Given the description of an element on the screen output the (x, y) to click on. 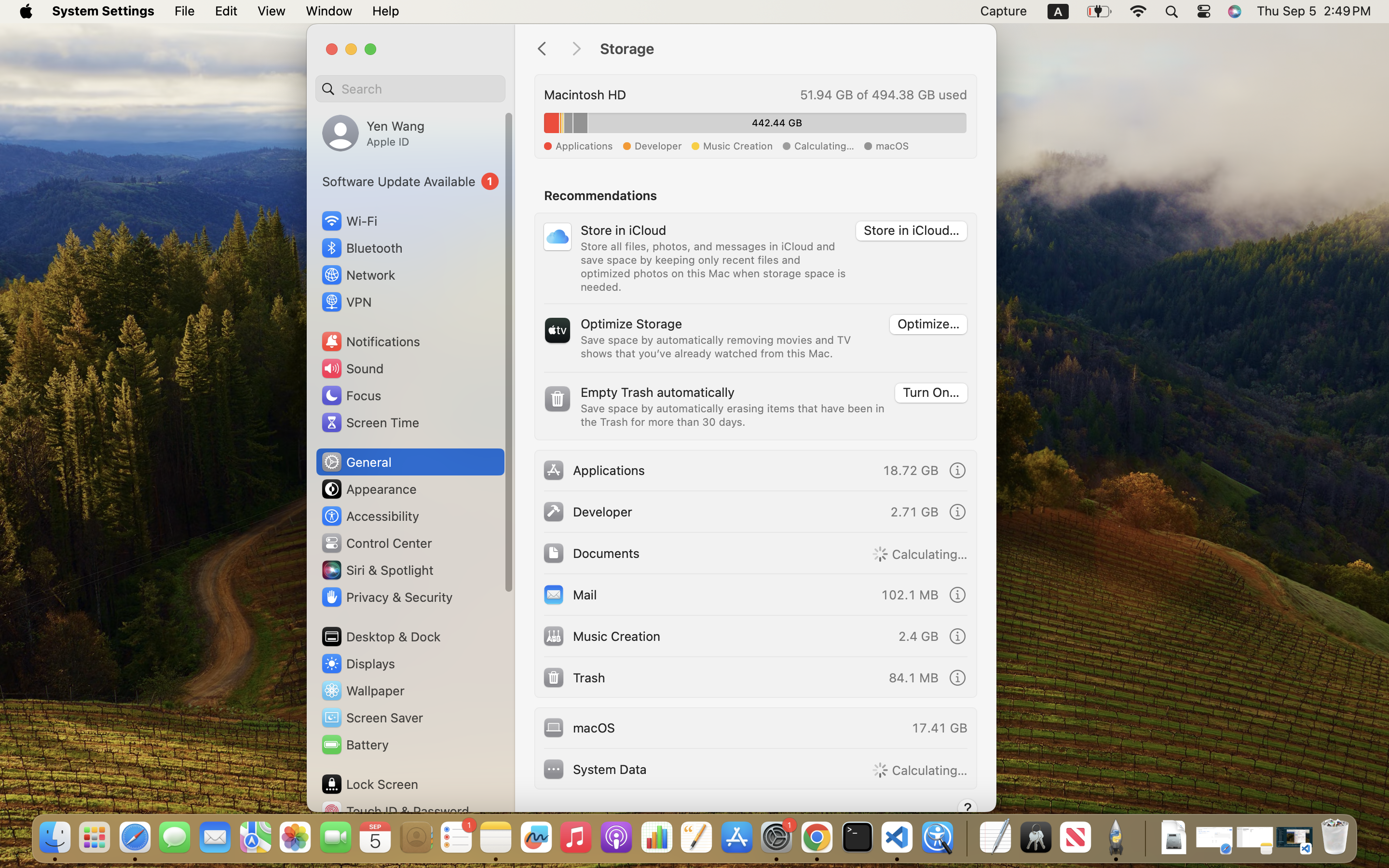
Documents Element type: AXStaticText (590, 552)
1 Element type: AXStaticText (410, 180)
Privacy & Security Element type: AXStaticText (386, 596)
Focus Element type: AXStaticText (350, 394)
Store all files, photos, and messages in iCloud and save space by keeping only recent files and optimized photos on this Mac when storage space is needed. Element type: AXStaticText (712, 266)
